Given the description of an element on the screen output the (x, y) to click on. 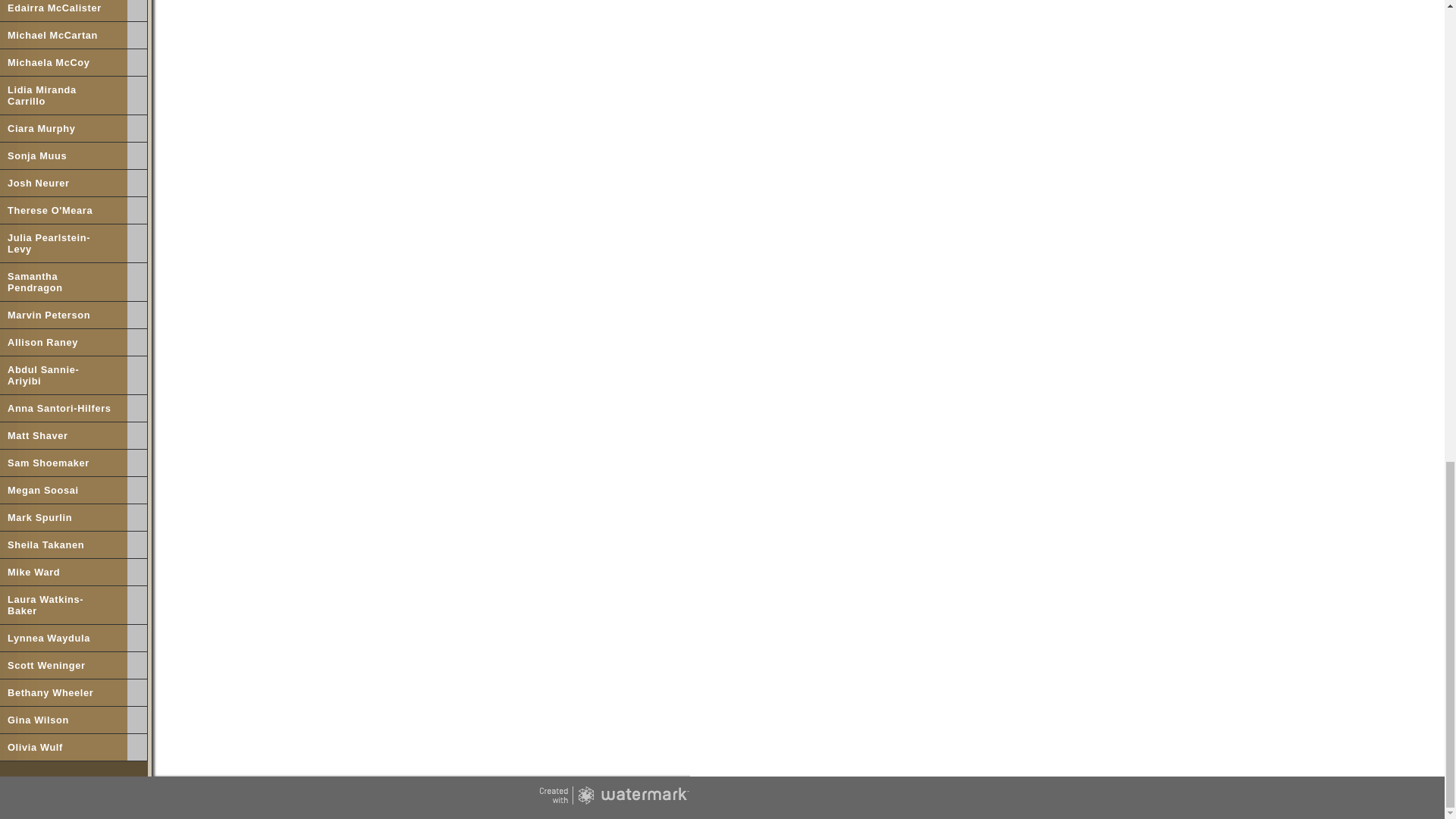
Edairra McCalister (64, 10)
Michaela McCoy (64, 62)
Lidia Miranda Carrillo (64, 95)
Michael McCartan (64, 35)
